Given the description of an element on the screen output the (x, y) to click on. 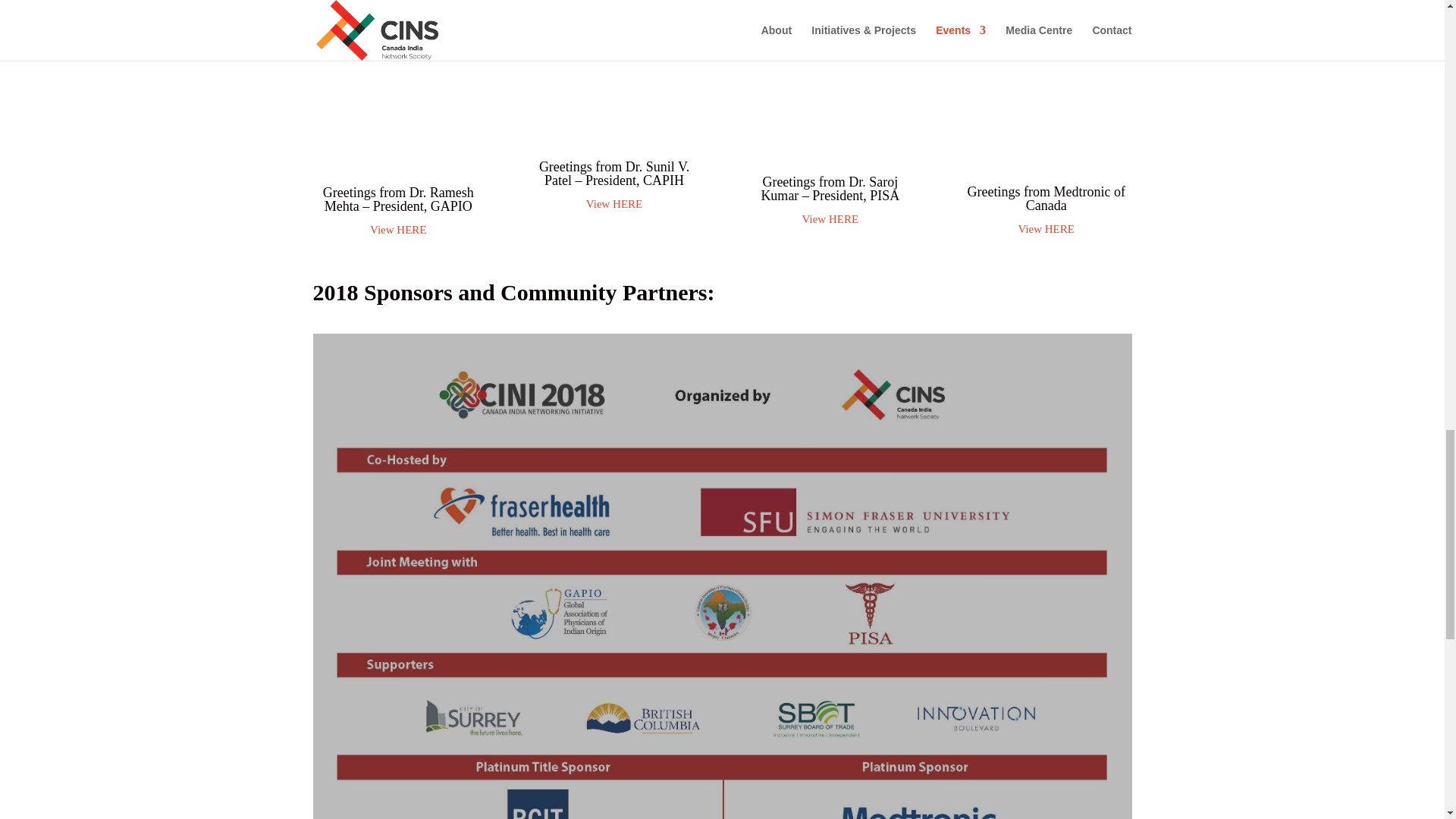
View HERE (397, 229)
View HERE (830, 218)
View HERE (1045, 228)
View HERE (614, 203)
View HERE (614, 10)
